Given the description of an element on the screen output the (x, y) to click on. 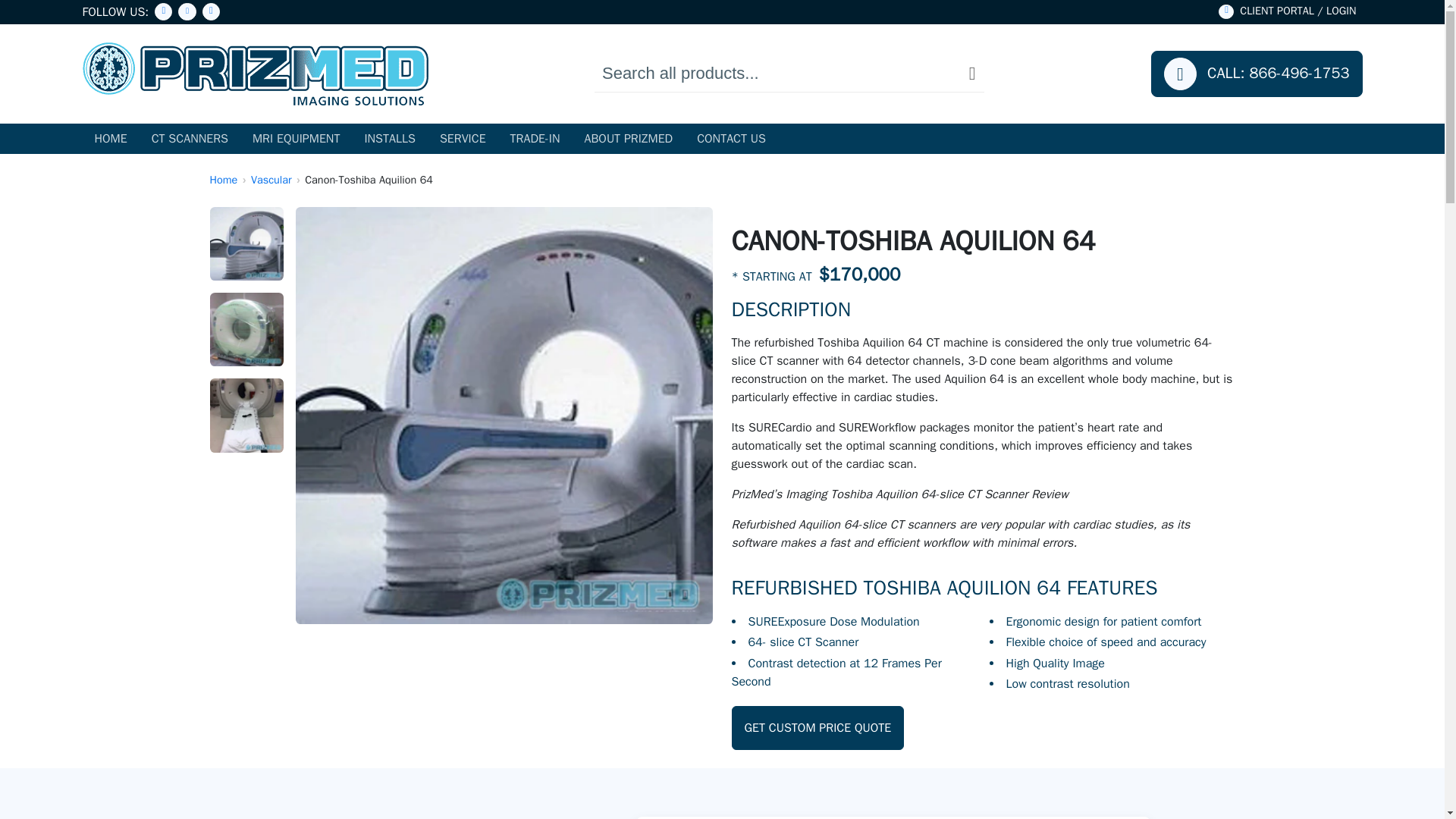
MRI EQUIPMENT (296, 138)
Back to the frontpage (223, 179)
INSTALLS (389, 138)
CT SCANNERS (189, 138)
CALL: 866-496-1753 (1256, 73)
HOME (109, 138)
